Given the description of an element on the screen output the (x, y) to click on. 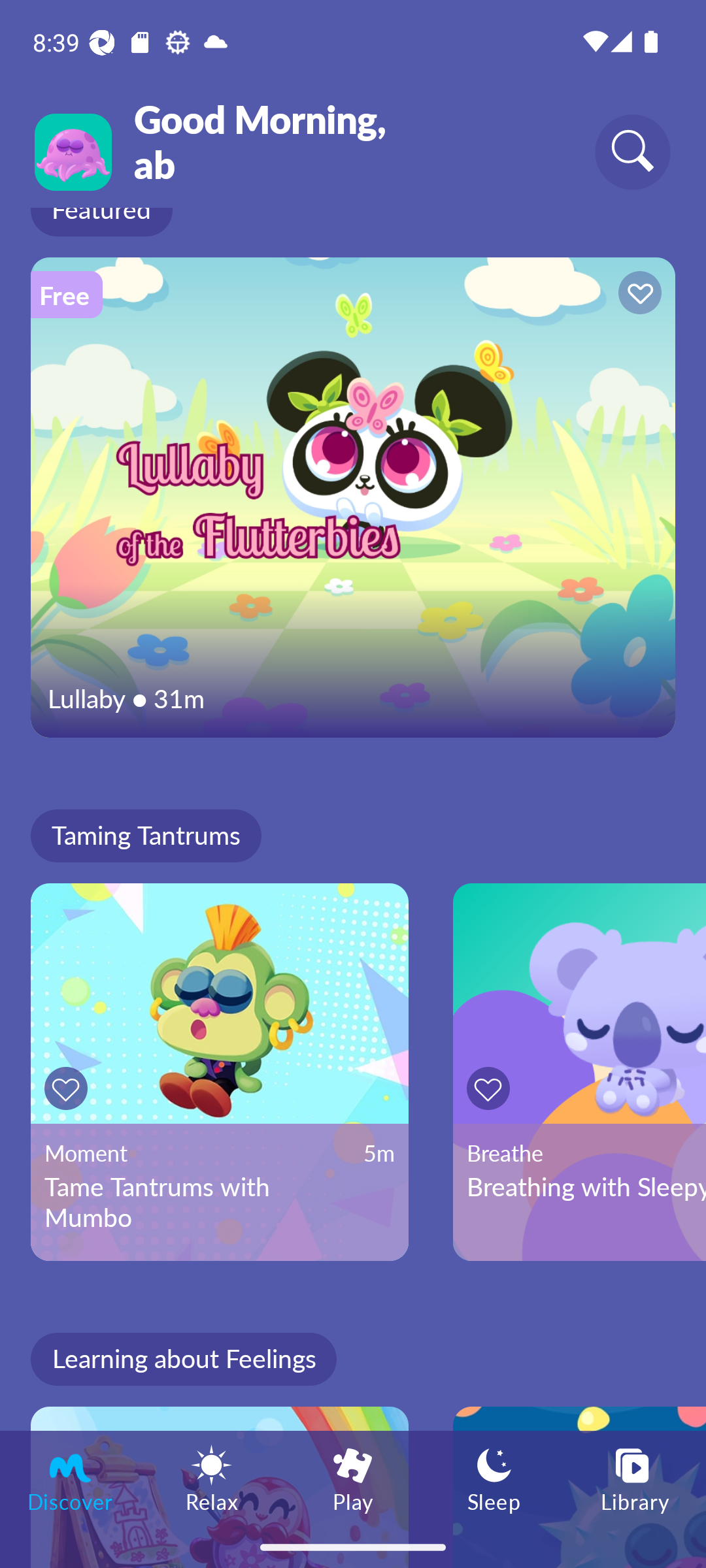
Search (632, 151)
Featured Content Free Button Lullaby ● 31m (352, 496)
Button (636, 295)
Button (69, 1087)
Button (491, 1087)
Relax (211, 1478)
Play (352, 1478)
Sleep (493, 1478)
Library (635, 1478)
